Given the description of an element on the screen output the (x, y) to click on. 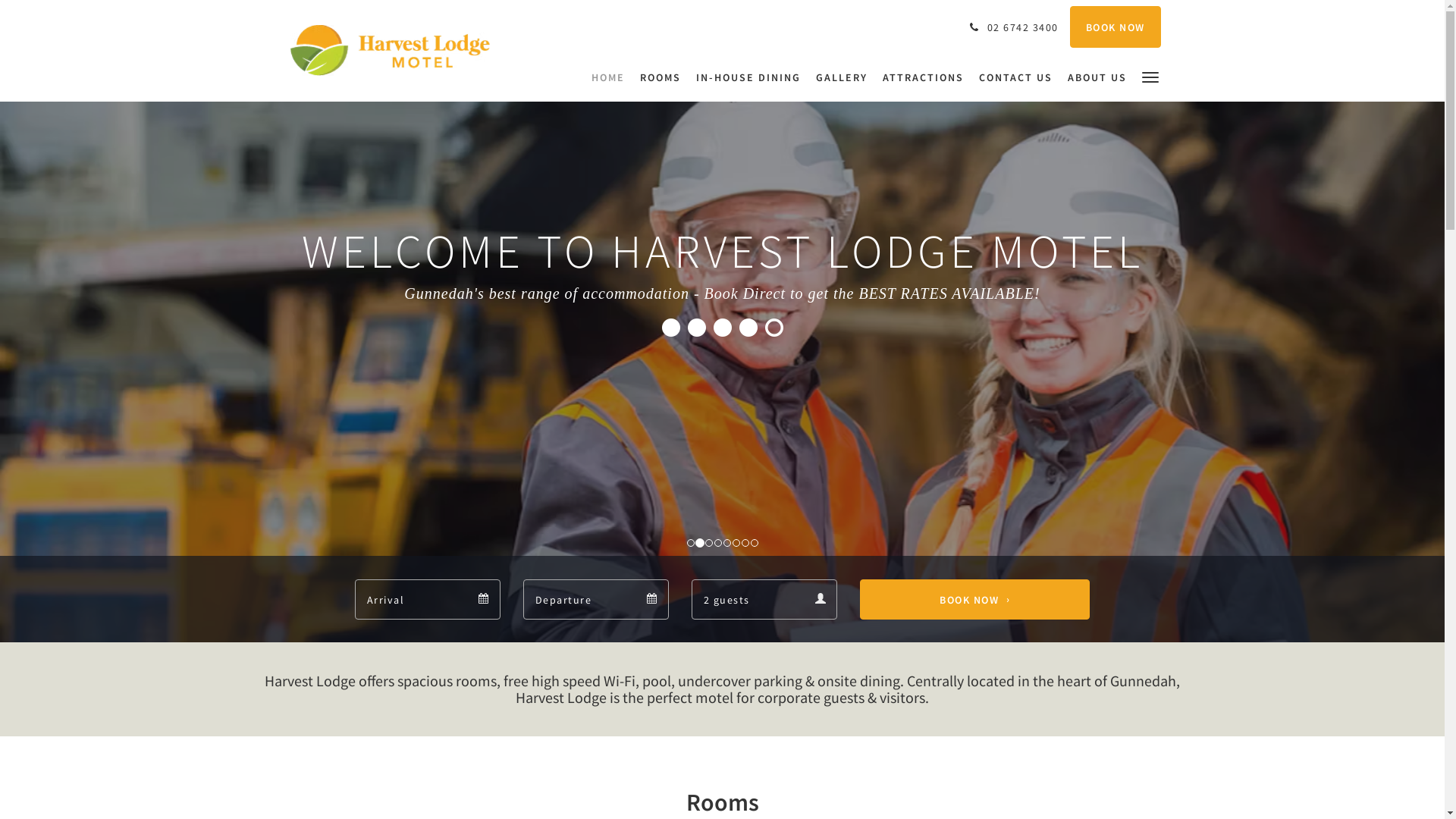
BOOK NOW Element type: text (974, 599)
GALLERY Element type: text (841, 77)
ROOMS Element type: text (660, 77)
CONTACT US Element type: text (1014, 77)
BOOK NOW Element type: text (1114, 26)
02 6742 3400 Element type: text (1012, 27)
ATTRACTIONS Element type: text (923, 77)
IN-HOUSE DINING Element type: text (748, 77)
ABOUT US Element type: text (1097, 77)
HOME Element type: text (611, 77)
